Given the description of an element on the screen output the (x, y) to click on. 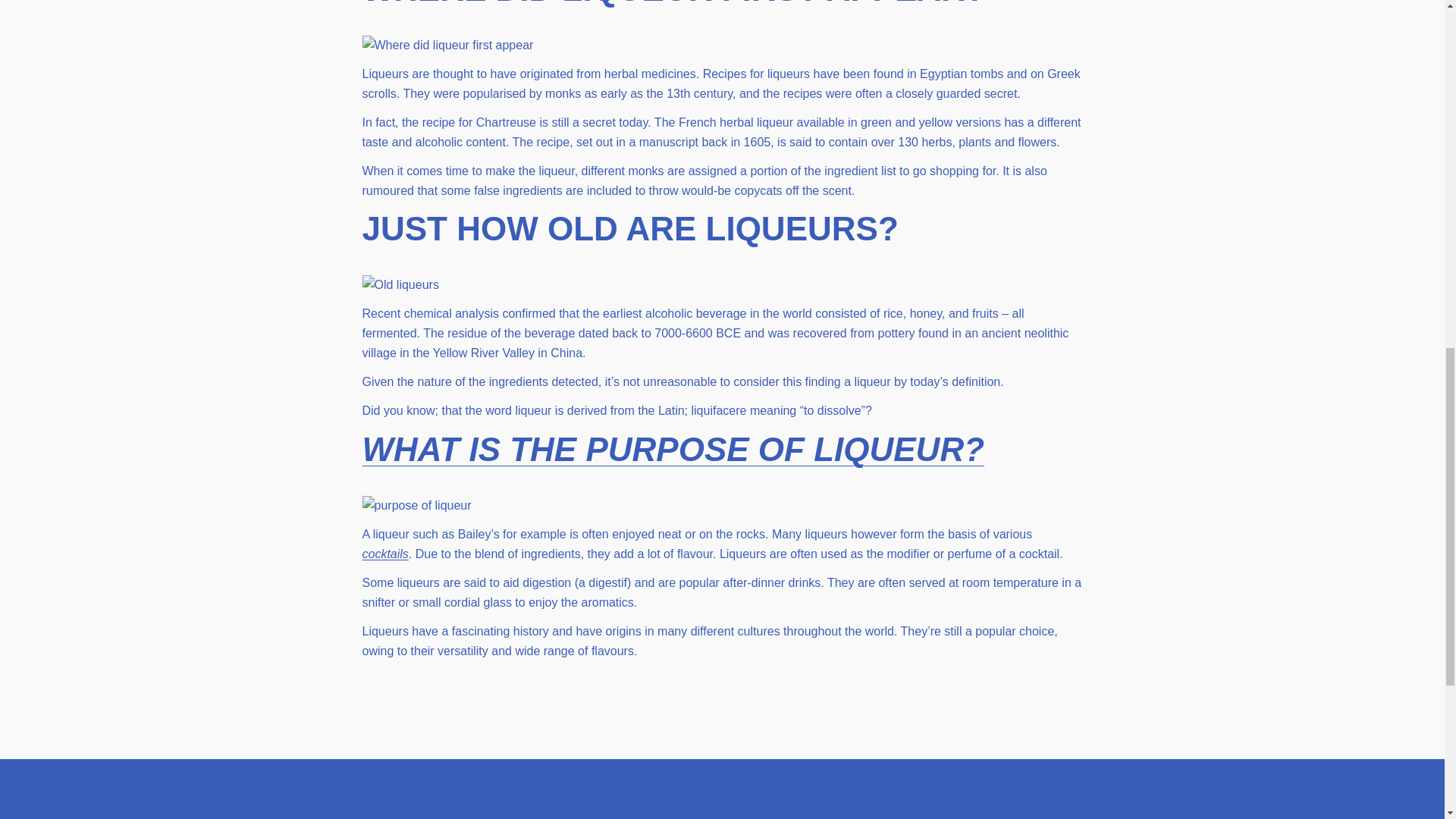
cocktails (385, 553)
WHAT IS THE PURPOSE OF LIQUEUR? (673, 448)
